Given the description of an element on the screen output the (x, y) to click on. 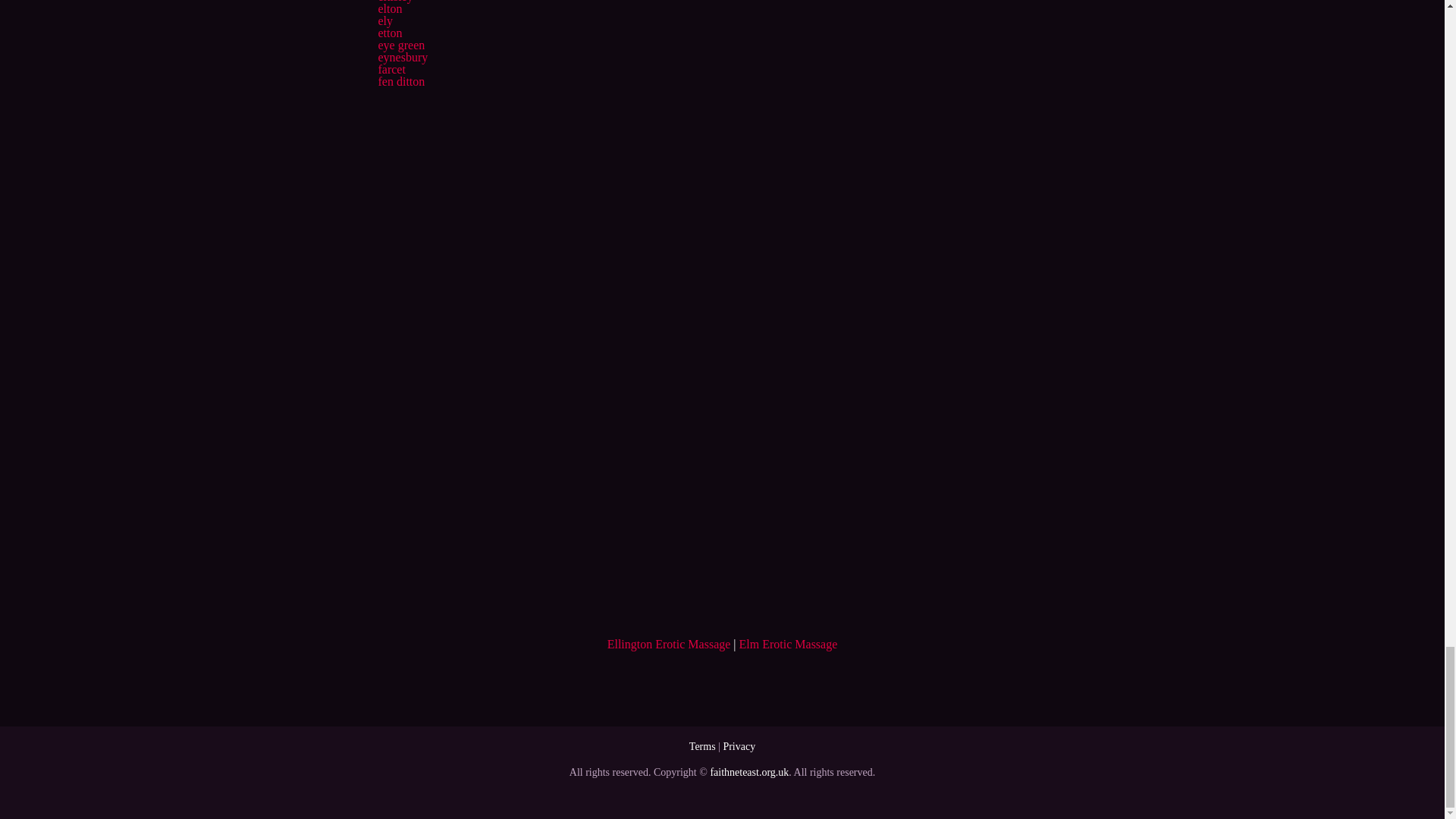
Ellington Erotic Massage (668, 644)
etton (389, 32)
ely (385, 20)
elton (389, 8)
Terms (702, 746)
eye green (401, 44)
farcet (390, 69)
eynesbury (402, 56)
Terms (702, 746)
fen ditton (401, 81)
